Given the description of an element on the screen output the (x, y) to click on. 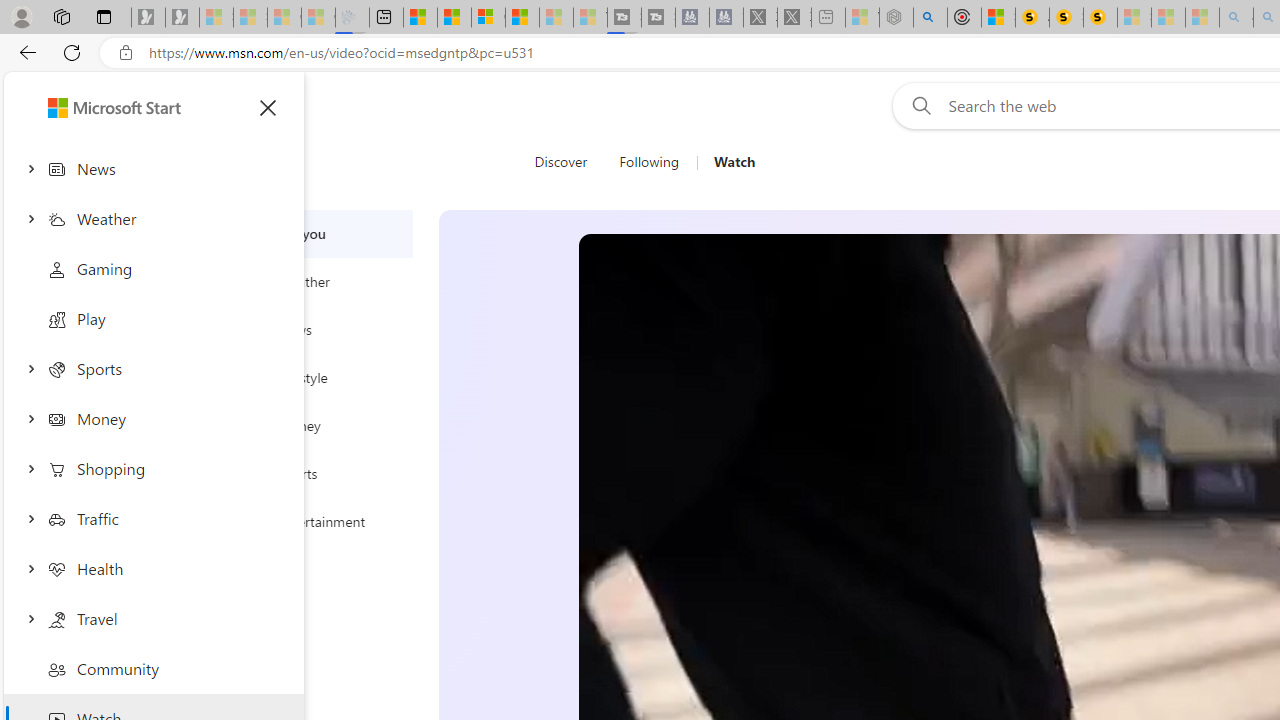
Close menu (268, 107)
Skip to footer (82, 105)
Wildlife - MSN - Sleeping (862, 17)
